Given the description of an element on the screen output the (x, y) to click on. 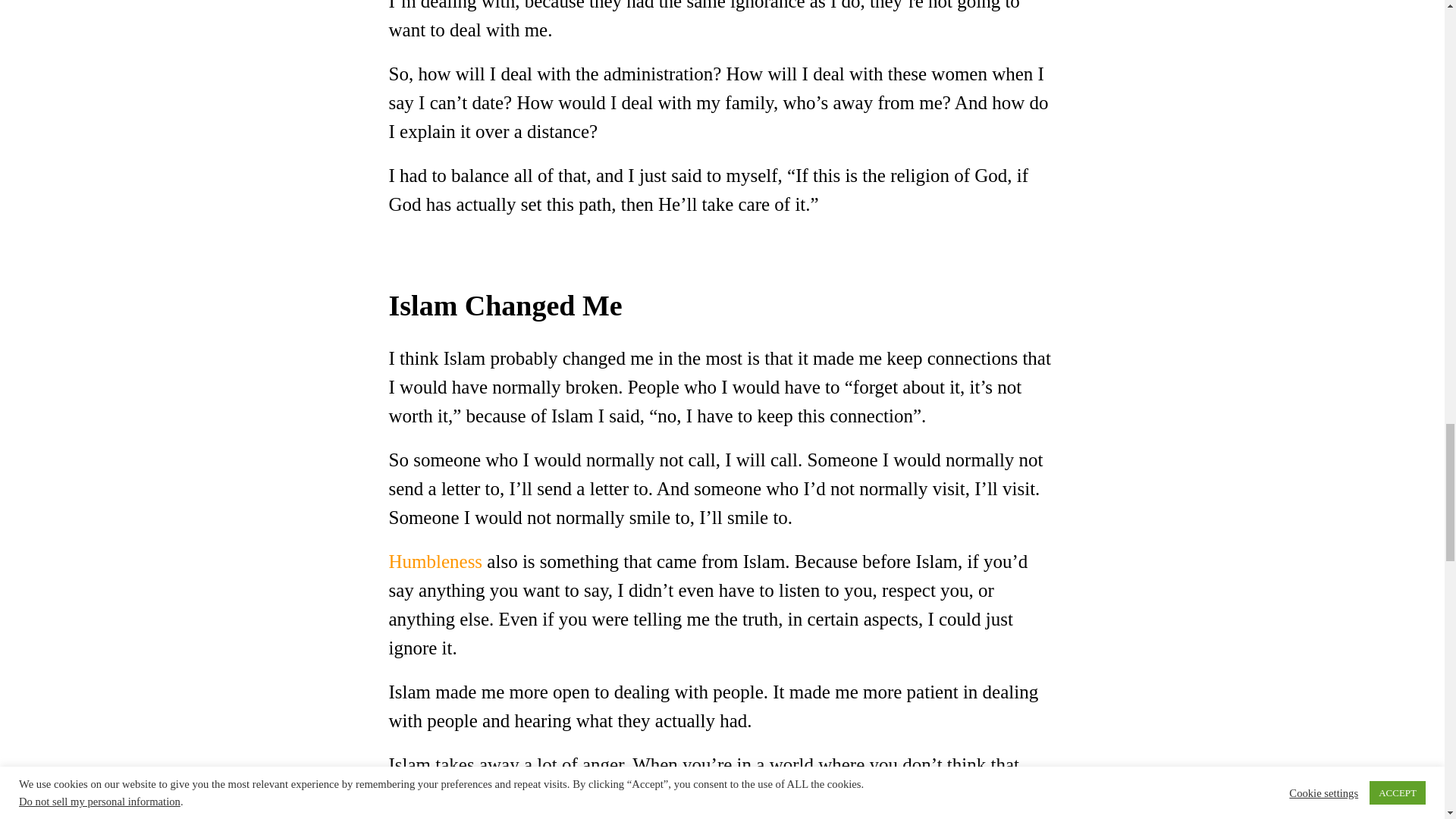
Humbleness (434, 561)
